Given the description of an element on the screen output the (x, y) to click on. 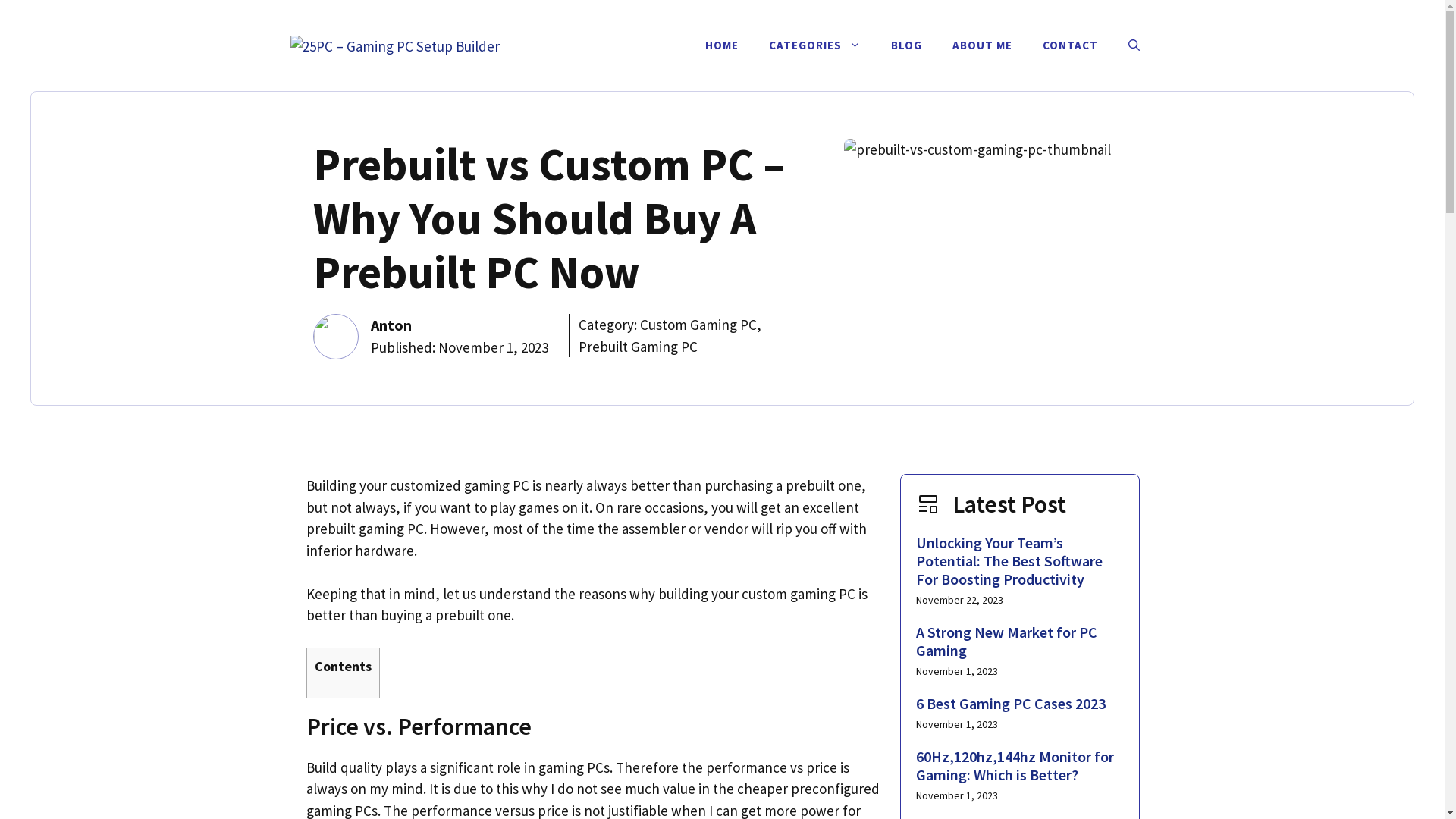
CONTACT Element type: text (1069, 45)
BLOG Element type: text (905, 45)
CATEGORIES Element type: text (814, 45)
60Hz,120hz,144hz Monitor for Gaming: Which is Better? Element type: text (1014, 765)
HOME Element type: text (721, 45)
ABOUT ME Element type: text (982, 45)
A Strong New Market for PC Gaming Element type: text (1006, 640)
6 Best Gaming PC Cases 2023 Element type: text (1010, 702)
